Given the description of an element on the screen output the (x, y) to click on. 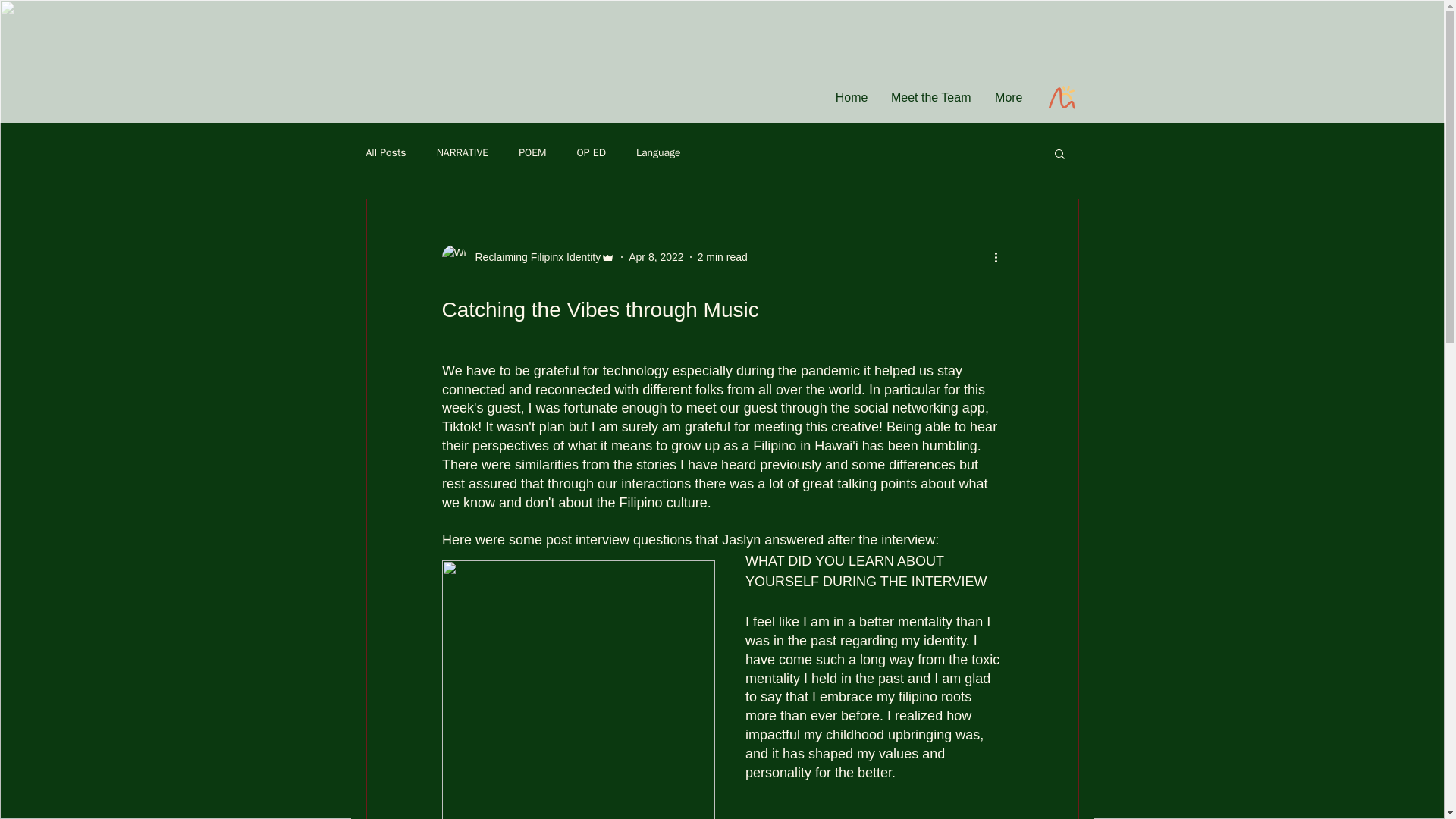
Reclaiming Filipinx Identity (532, 256)
Meet the Team (930, 97)
OP ED (590, 152)
2 min read (722, 256)
All Posts (385, 152)
Reclaiming Filipinx Identity (527, 256)
Home (850, 97)
Language (658, 152)
Apr 8, 2022 (655, 256)
NARRATIVE (462, 152)
